Given the description of an element on the screen output the (x, y) to click on. 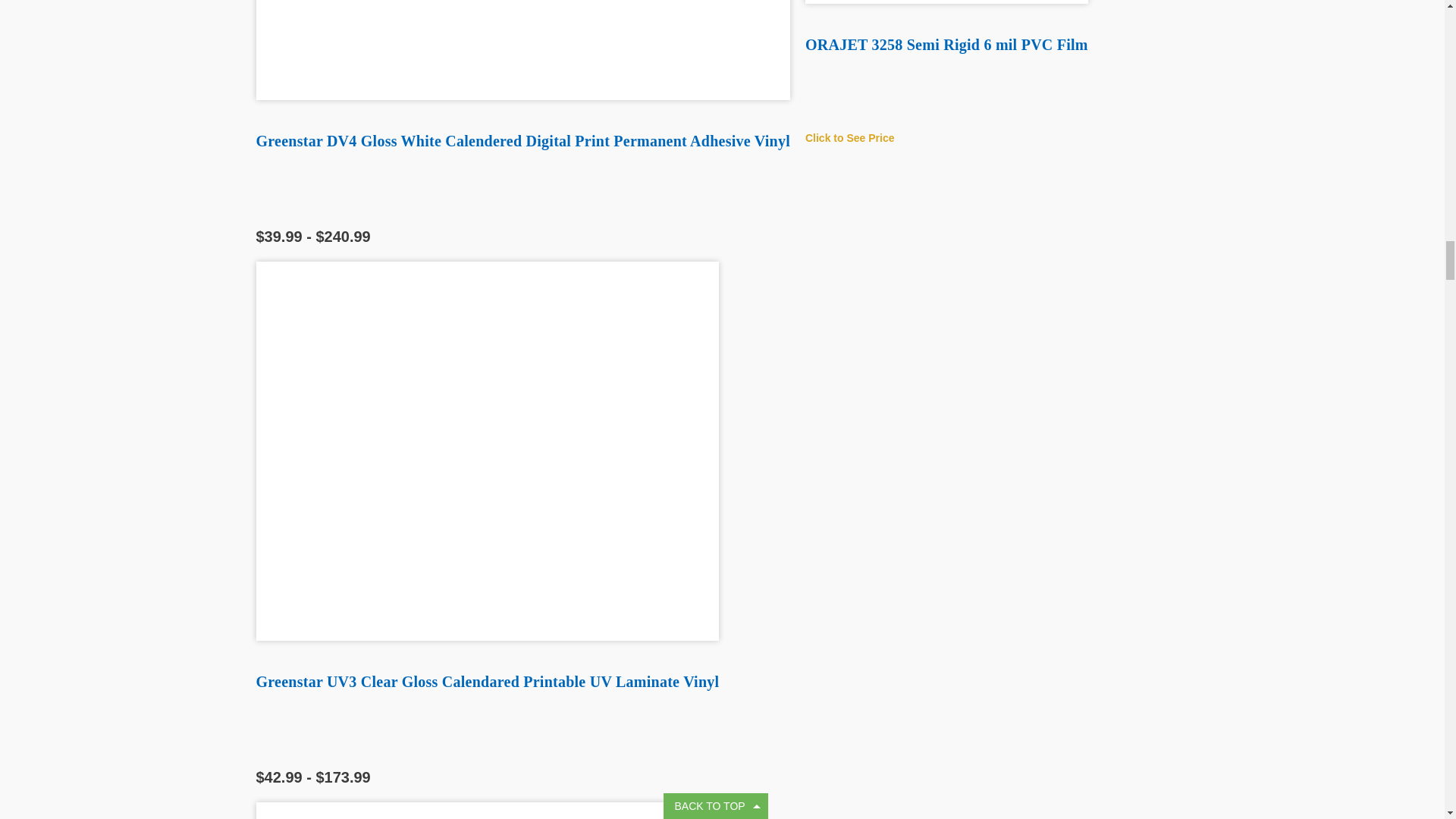
ORAJET 3258 Semi Rigid 6 mil PVC Film (946, 2)
